Given the description of an element on the screen output the (x, y) to click on. 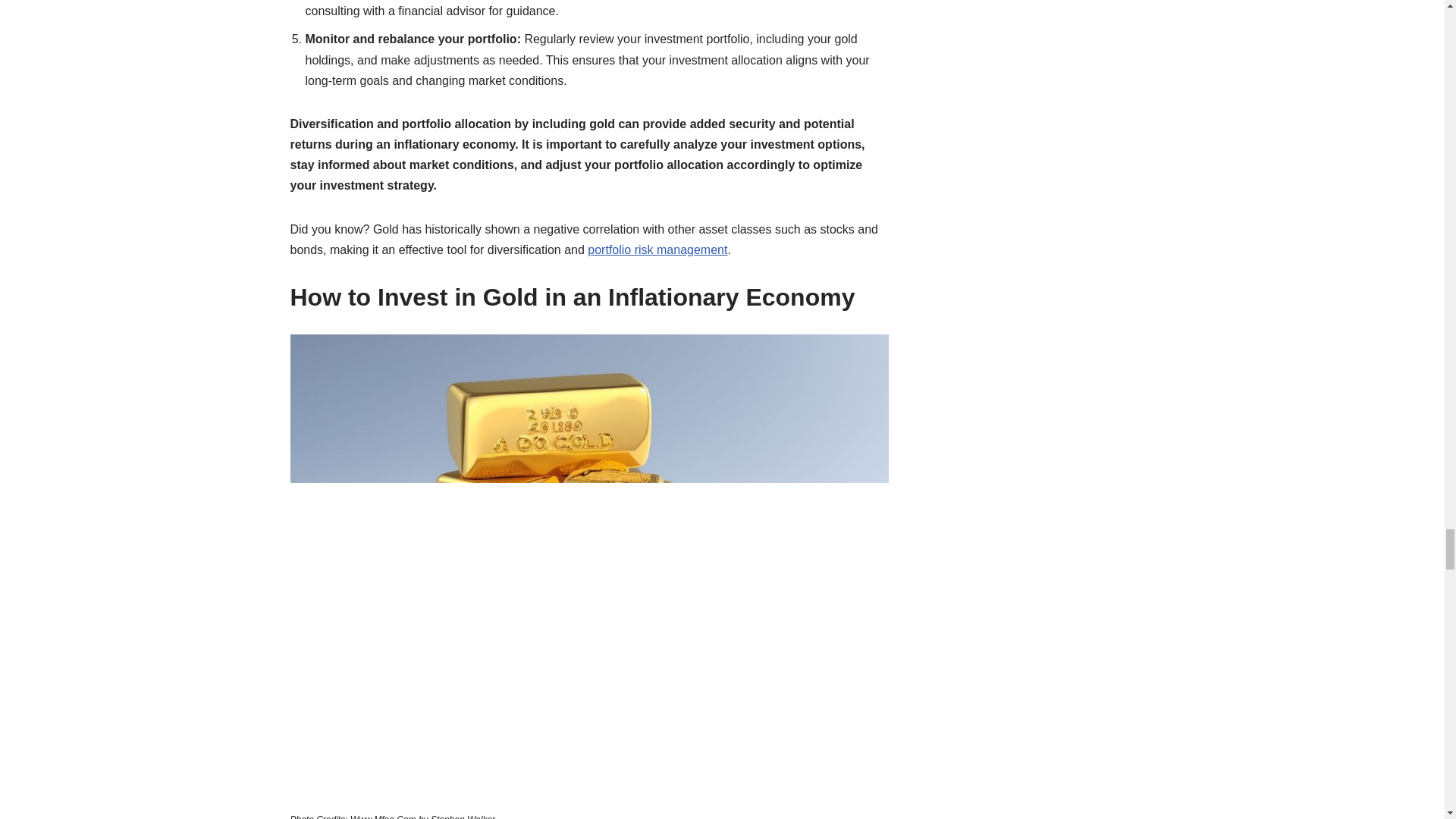
portfolio risk management (657, 249)
